Given the description of an element on the screen output the (x, y) to click on. 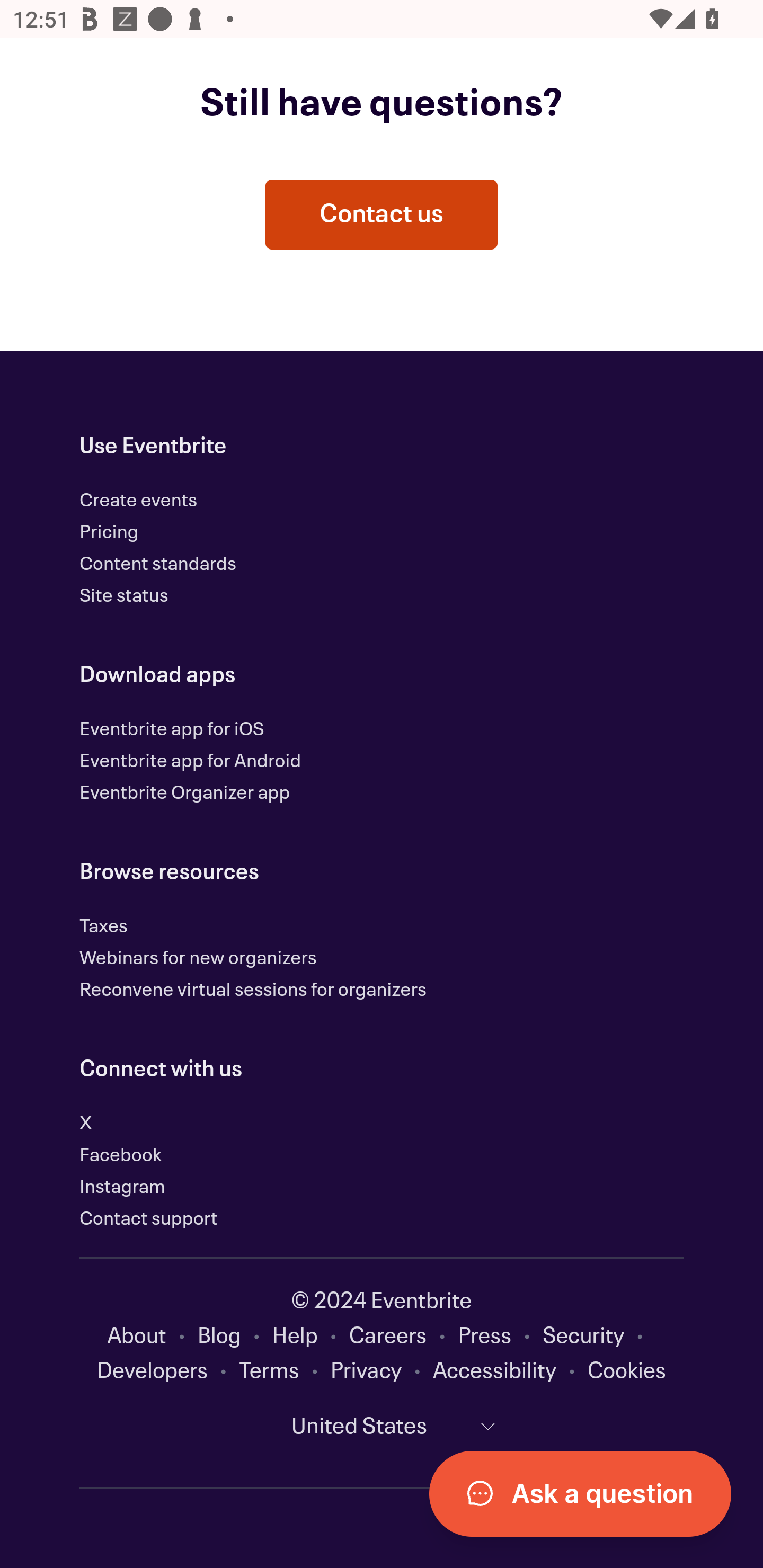
Contact us (381, 215)
Create events (138, 500)
Pricing (109, 532)
Content standards (157, 565)
Site status (123, 596)
Eventbrite app for iOS (172, 729)
Eventbrite app for Android (190, 761)
Eventbrite Organizer app (184, 794)
Taxes (103, 927)
Webinars for new organizers (198, 958)
Reconvene virtual sessions for organizers (253, 990)
X (85, 1123)
Facebook (120, 1156)
Instagram (122, 1187)
Contact support (148, 1219)
About● About ● (152, 1337)
Blog● Blog ● (234, 1337)
Help● Help ● (310, 1337)
Careers● Careers ● (403, 1337)
Press● Press ● (500, 1337)
Security● Security ● (598, 1337)
Developers● Developers ● (168, 1372)
Terms● Terms ● (284, 1372)
Privacy● Privacy ● (381, 1372)
Accessibility● Accessibility ● (510, 1372)
Cookies (626, 1372)
United States (381, 1426)
Open Chatbot (579, 1493)
